Given the description of an element on the screen output the (x, y) to click on. 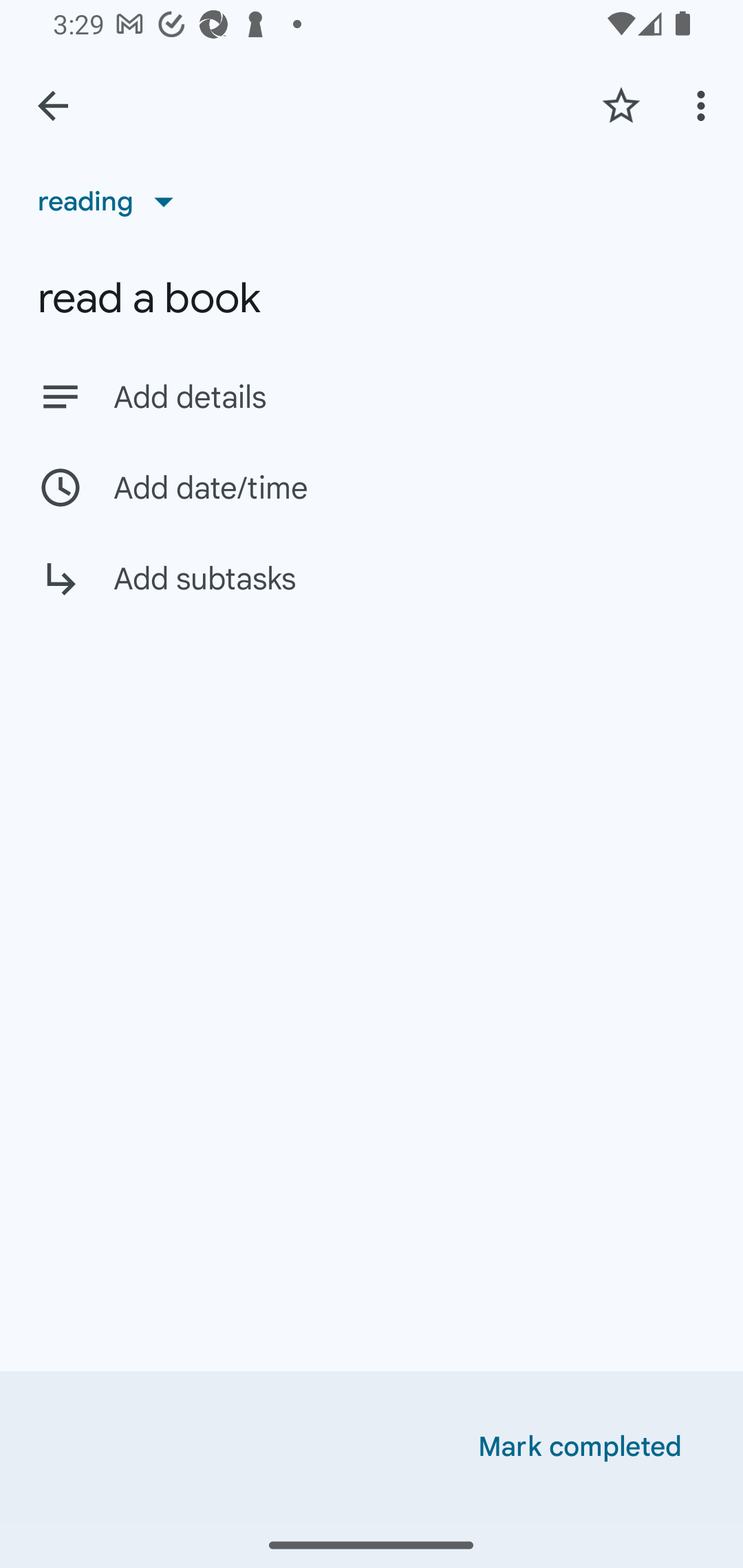
Back (53, 105)
Add star (620, 105)
More options (704, 105)
reading List, reading selected, 1 of 19 (111, 201)
read a book (371, 298)
Add details (371, 396)
Add details (409, 397)
Add date/time (371, 487)
Add subtasks (371, 593)
Mark completed (580, 1446)
